Given the description of an element on the screen output the (x, y) to click on. 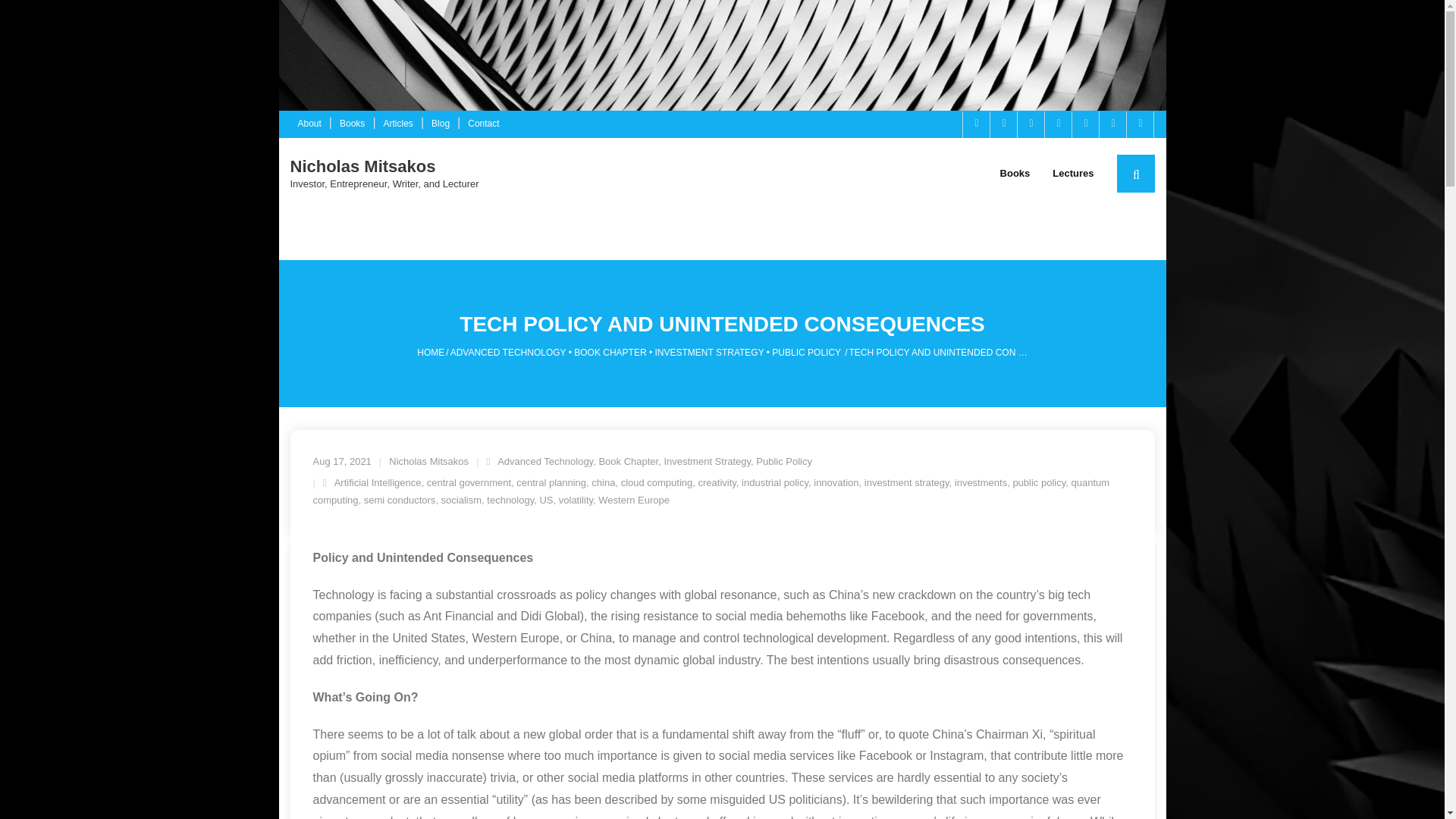
Investor, Entrepreneur, Writer, and Lecturer (384, 184)
Book Chapter (628, 460)
Blog (440, 124)
Advanced Technology (544, 460)
Investment Strategy (707, 460)
ADVANCED TECHNOLOGY (507, 352)
central planning (551, 482)
Contact (483, 124)
Books (351, 124)
Aug 17, 2021 (342, 460)
